Given the description of an element on the screen output the (x, y) to click on. 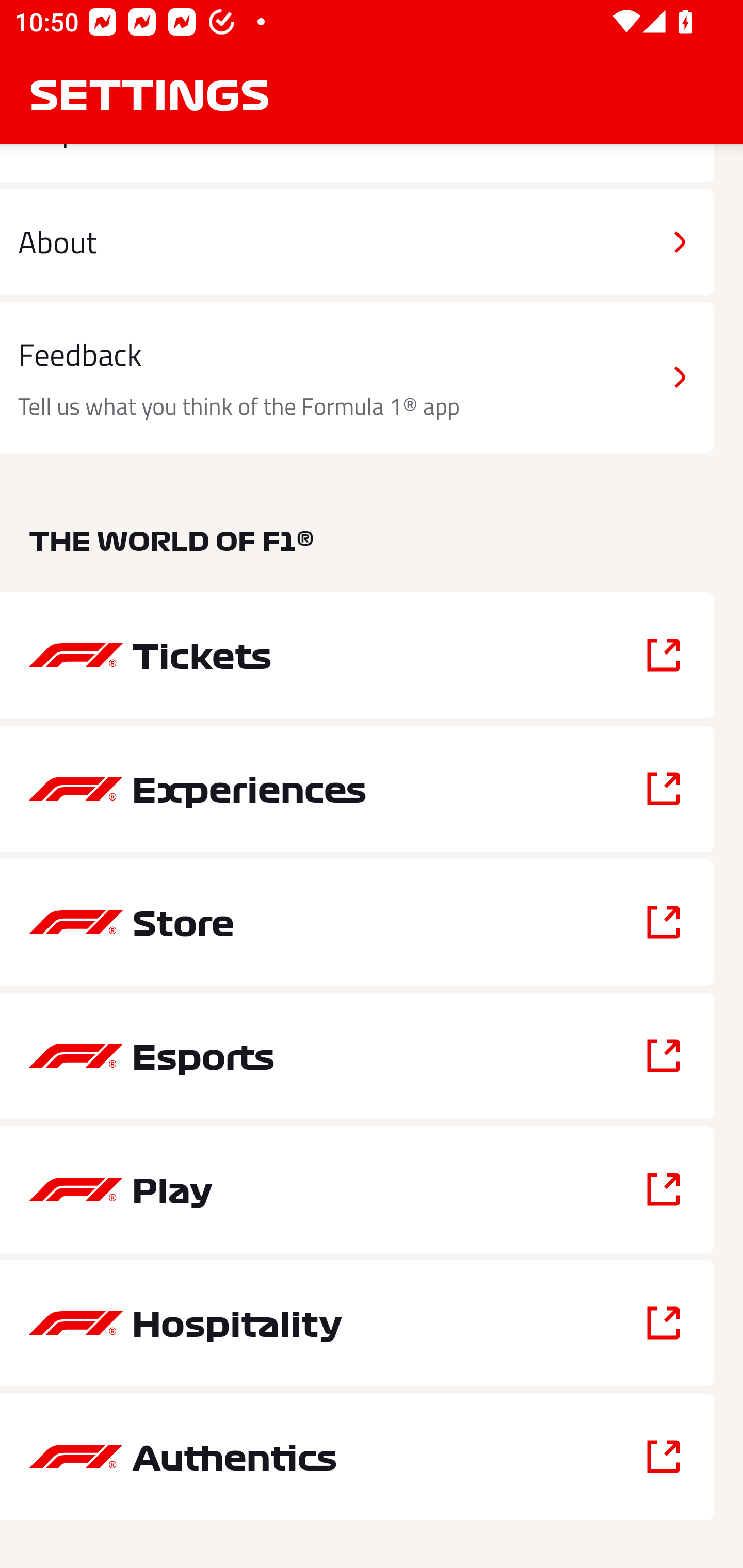
About (357, 241)
Tickets (357, 655)
Experiences (357, 788)
Store (357, 922)
Esports (357, 1055)
Play (357, 1188)
Hospitality (357, 1323)
Authentics (357, 1456)
